Given the description of an element on the screen output the (x, y) to click on. 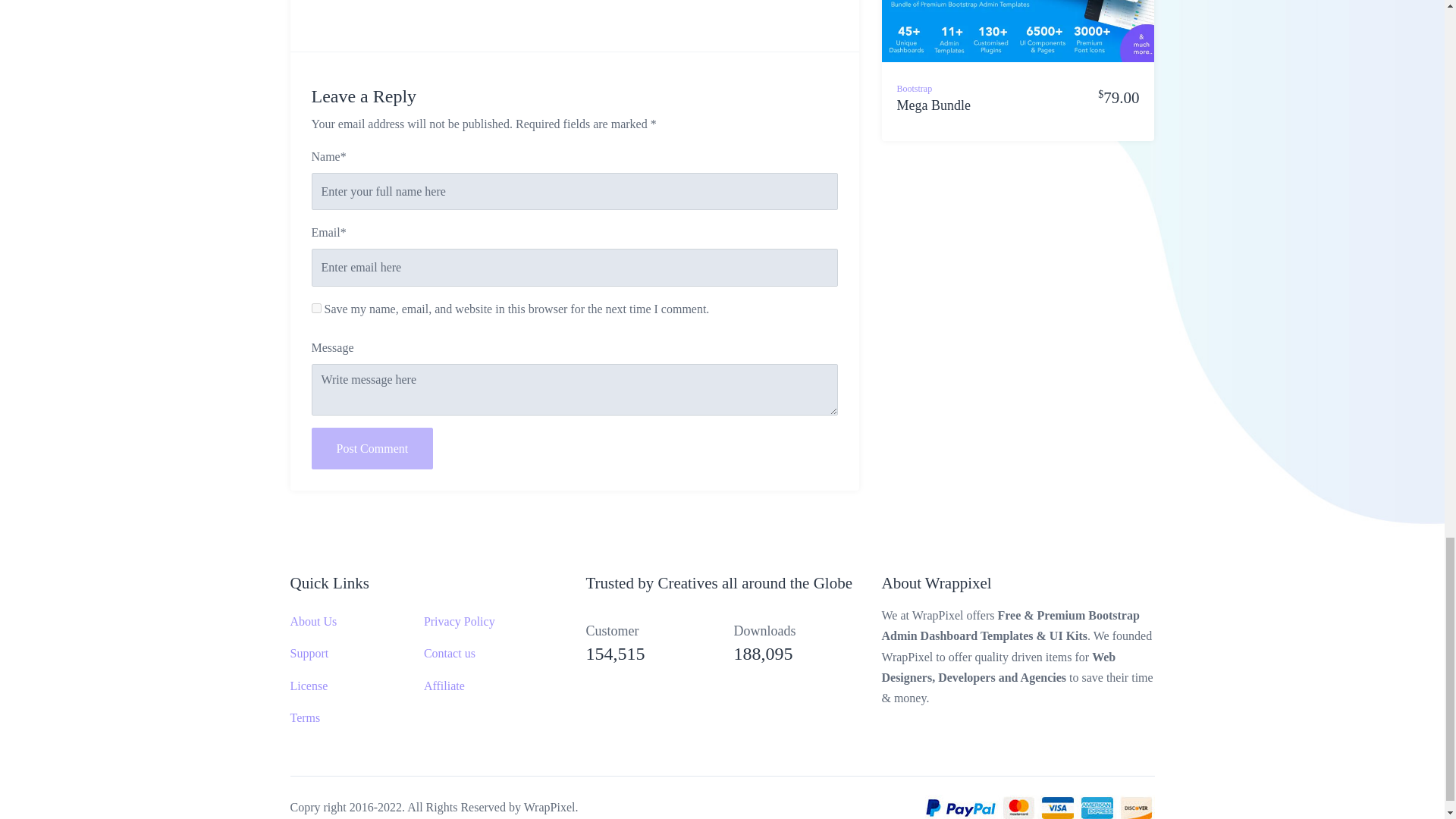
Post Comment (371, 448)
Privacy Policy (459, 621)
Mega Bundle (932, 114)
Contact us (449, 653)
About Us (312, 621)
yes (315, 307)
Support (309, 653)
Post Comment (371, 448)
License (308, 685)
